Given the description of an element on the screen output the (x, y) to click on. 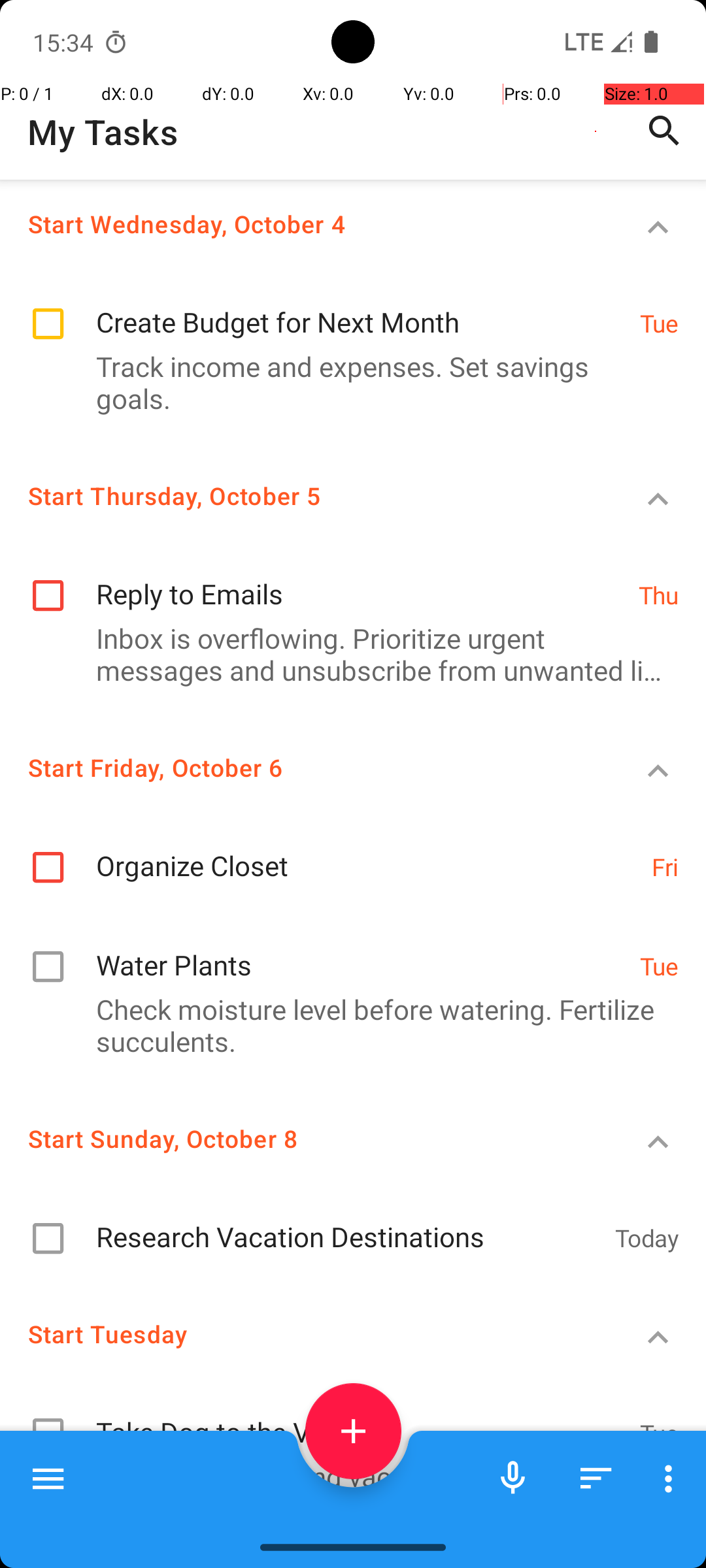
Start Wednesday, October 4 Element type: android.widget.TextView (304, 223)
Start Thursday, October 5 Element type: android.widget.TextView (304, 495)
Start Friday, October 6 Element type: android.widget.TextView (304, 767)
Start Sunday, October 8 Element type: android.widget.TextView (304, 1138)
Start Tuesday Element type: android.widget.TextView (304, 1333)
Track income and expenses. Set savings goals. Element type: android.widget.TextView (346, 381)
Inbox is overflowing. Prioritize urgent messages and unsubscribe from unwanted lists. Element type: android.widget.TextView (346, 653)
Check moisture level before watering. Fertilize succulents. Element type: android.widget.TextView (346, 1024)
Research Vacation Destinations Element type: android.widget.TextView (348, 1222)
Annual checkup and vaccinations due. Element type: android.widget.TextView (346, 1475)
